Given the description of an element on the screen output the (x, y) to click on. 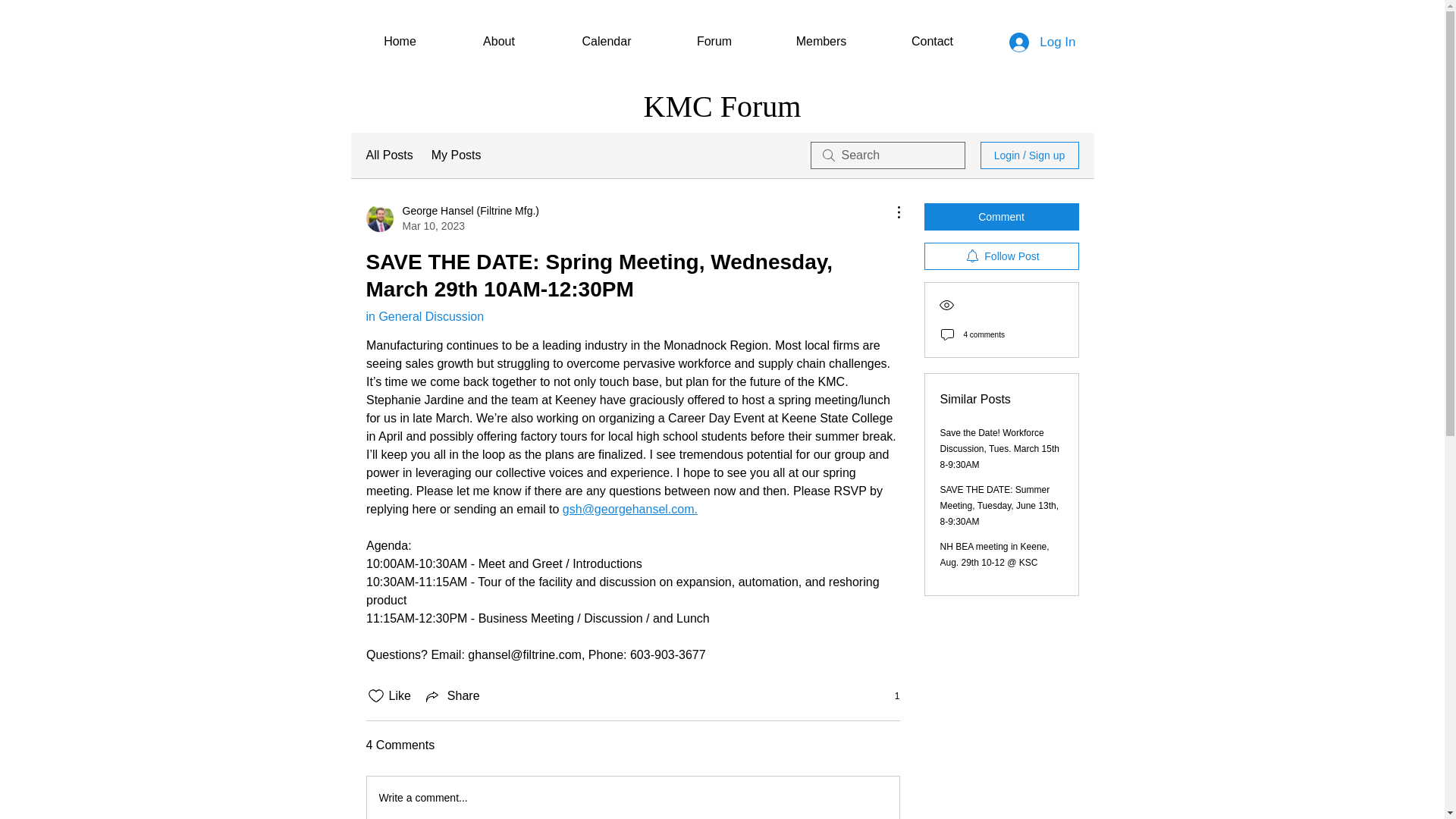
Home (399, 41)
in General Discussion (424, 316)
1 (888, 695)
All Posts (388, 155)
My Posts (455, 155)
Write a comment... (632, 797)
Contact (931, 41)
Calendar (606, 41)
Comment (1000, 216)
About (498, 41)
Log In (1042, 41)
Share (451, 696)
Forum (712, 41)
Members (821, 41)
